Given the description of an element on the screen output the (x, y) to click on. 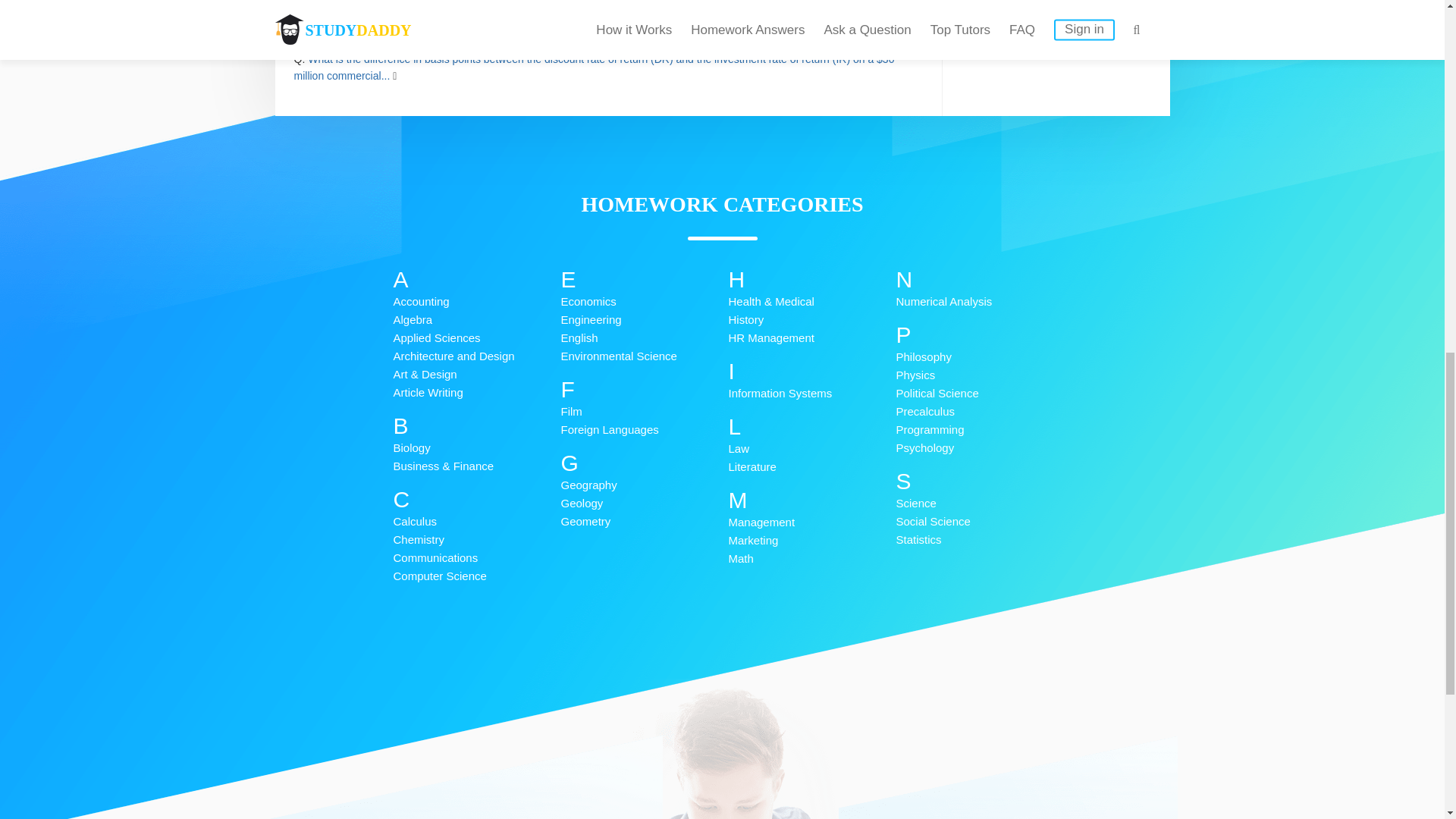
Applied Sciences (476, 338)
Article Writing (476, 393)
Biology (476, 447)
Accounting (476, 301)
Engineering (644, 320)
Economics (644, 301)
English (644, 338)
Communications (476, 557)
Environmental Science (644, 356)
Chemistry (476, 539)
Algebra (476, 320)
Calculus (476, 521)
Architecture and Design (476, 356)
Computer Science (476, 576)
